Given the description of an element on the screen output the (x, y) to click on. 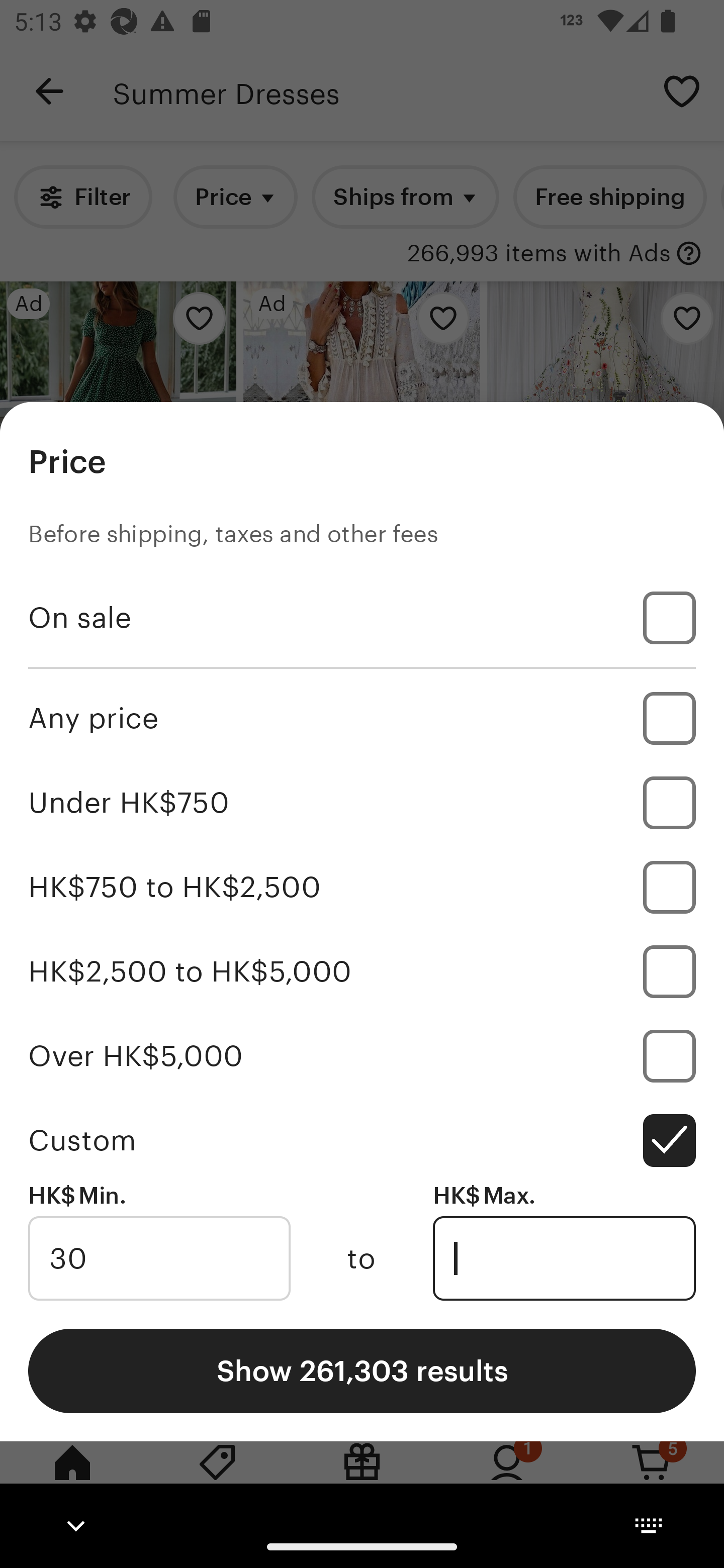
On sale (362, 617)
Any price (362, 717)
Under HK$750 (362, 802)
HK$750 to HK$2,500 (362, 887)
HK$2,500 to HK$5,000 (362, 970)
Over HK$5,000 (362, 1054)
Custom (362, 1139)
30 (159, 1257)
Show 261,303 results (361, 1370)
